Given the description of an element on the screen output the (x, y) to click on. 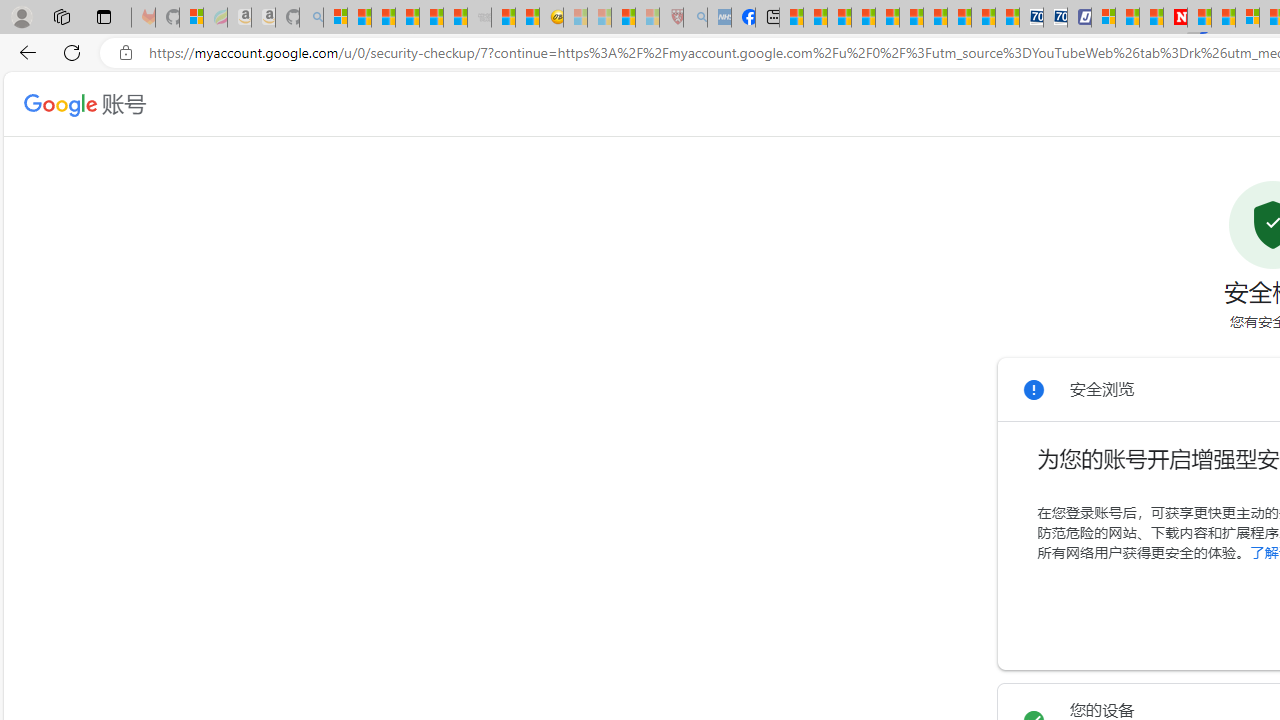
Newsweek - News, Analysis, Politics, Business, Technology (1174, 17)
New Report Confirms 2023 Was Record Hot | Watch (430, 17)
